Given the description of an element on the screen output the (x, y) to click on. 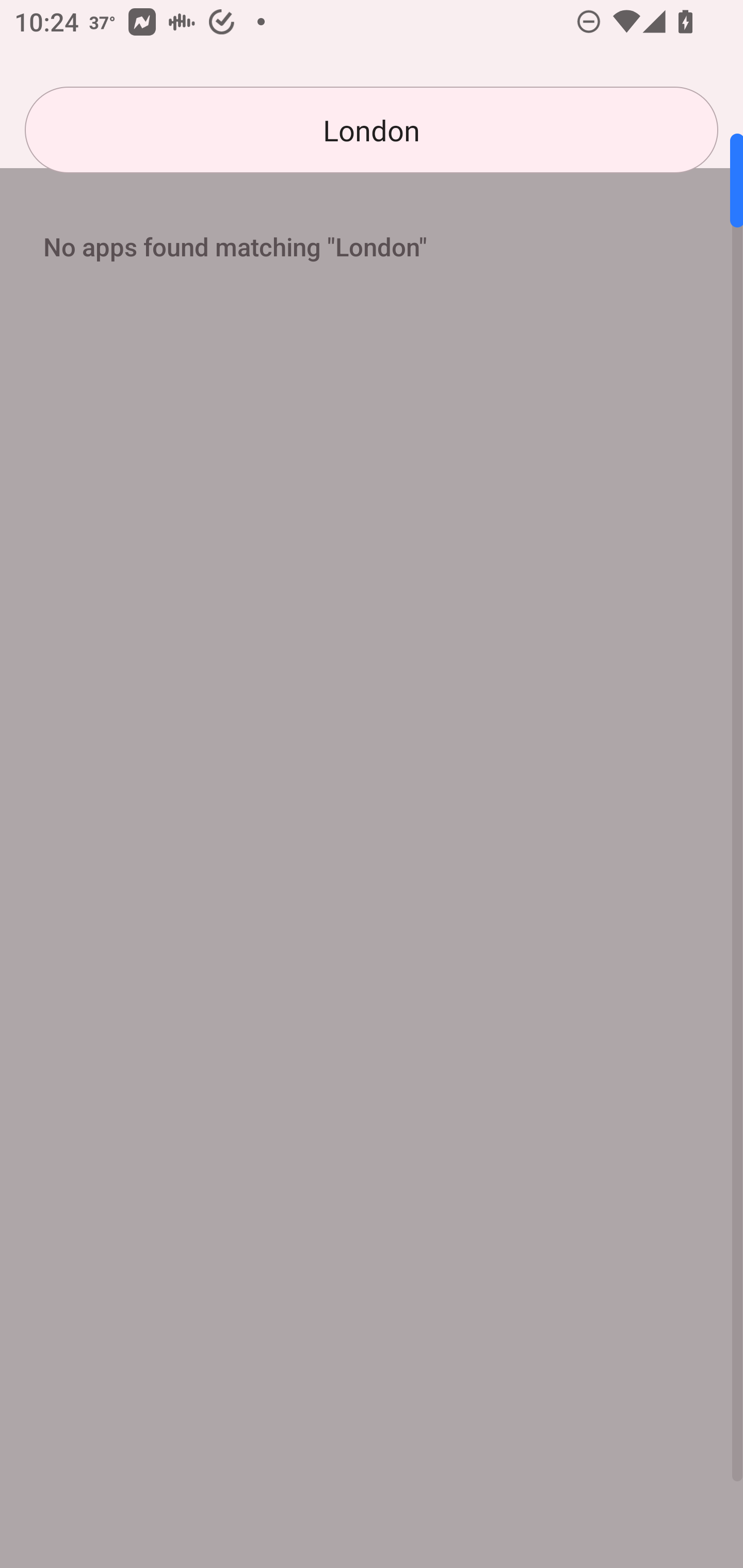
London (371, 130)
